Given the description of an element on the screen output the (x, y) to click on. 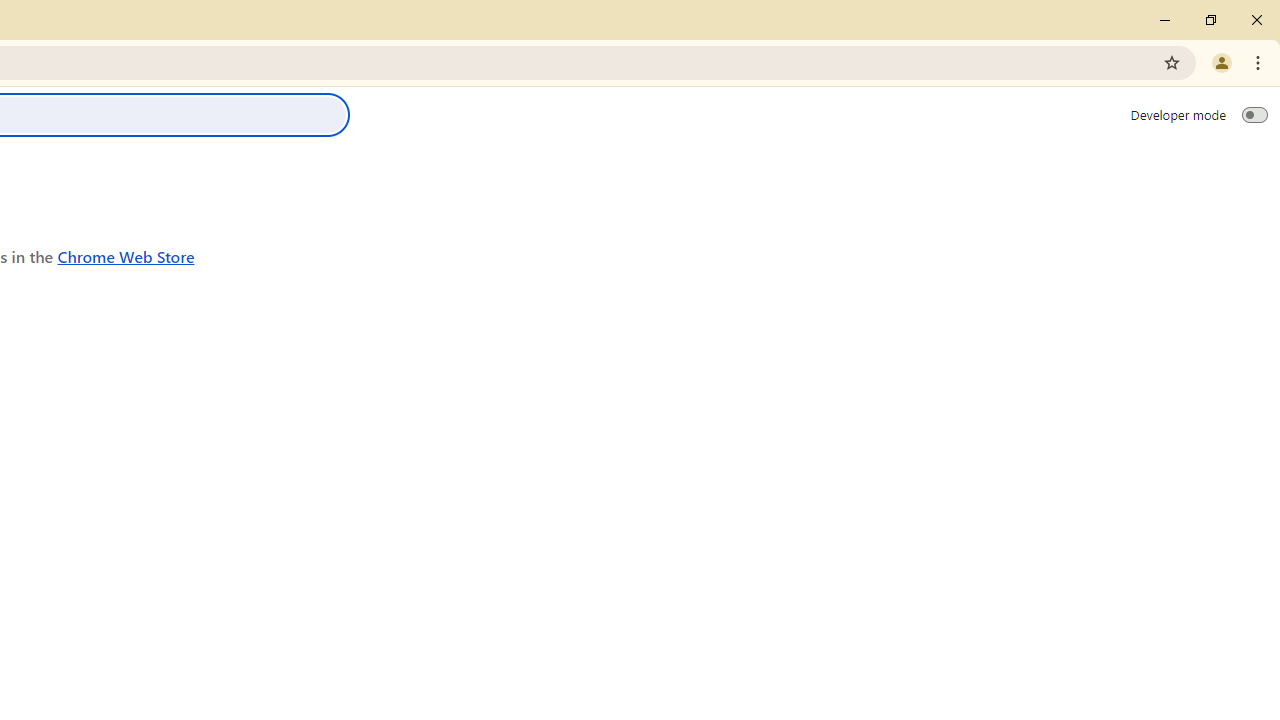
Developer mode (1254, 114)
Chrome Web Store (125, 256)
